Given the description of an element on the screen output the (x, y) to click on. 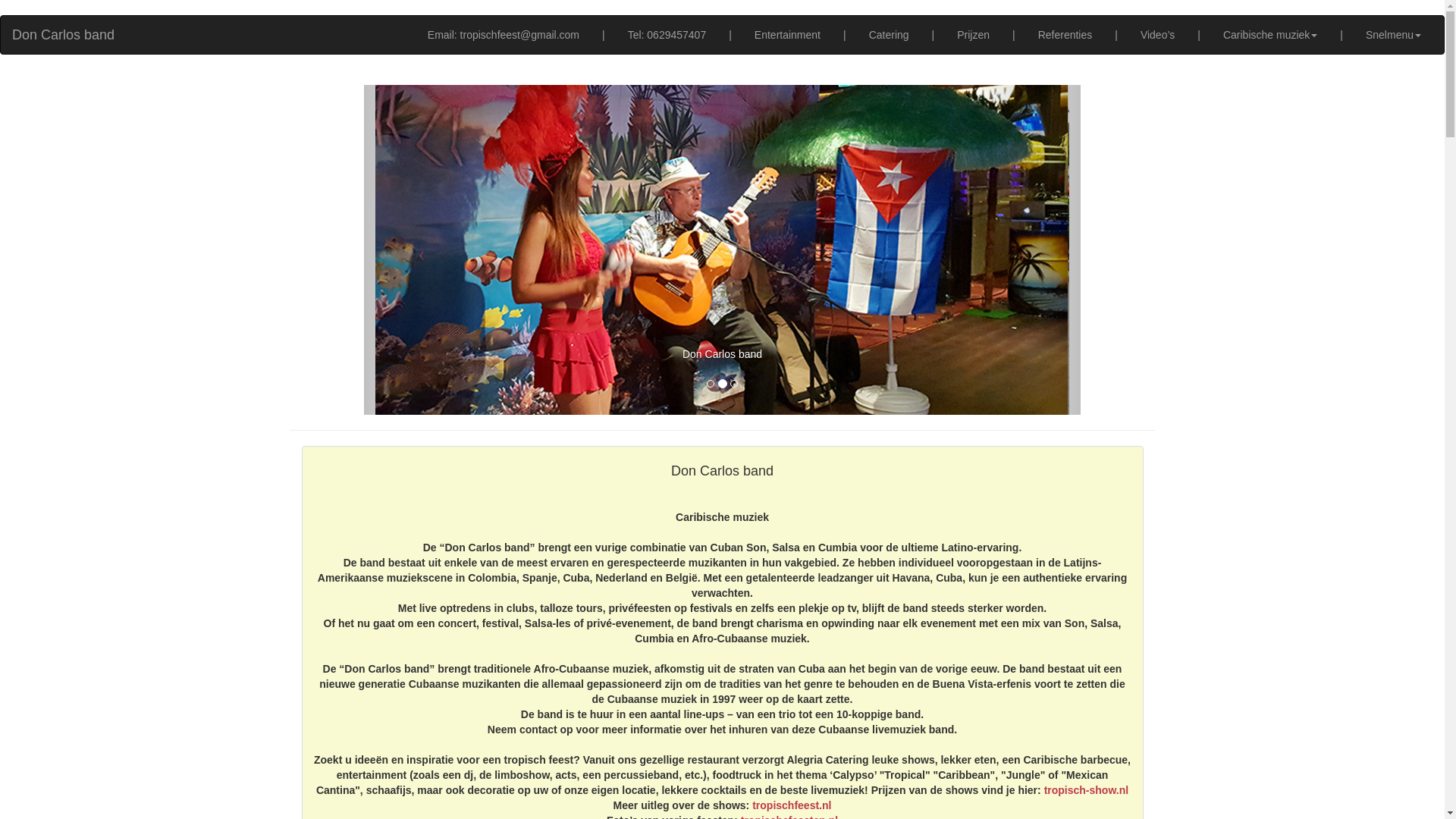
Tel: 0629457407 Element type: text (667, 34)
Snelmenu Element type: text (1393, 34)
Caribische muziek Element type: text (1269, 34)
| Element type: text (1341, 34)
Don Carlos band Element type: text (62, 34)
| Element type: text (1013, 34)
Catering Element type: text (888, 34)
| Element type: text (933, 34)
| Element type: text (730, 34)
Prijzen Element type: text (973, 34)
| Element type: text (1198, 34)
| Element type: text (844, 34)
Email: tropischfeest@gmail.com Element type: text (503, 34)
tropischfeest.nl Element type: text (791, 805)
| Element type: text (1116, 34)
Entertainment Element type: text (787, 34)
| Element type: text (603, 34)
tropisch-show.nl Element type: text (1086, 790)
Referenties Element type: text (1065, 34)
